Given the description of an element on the screen output the (x, y) to click on. 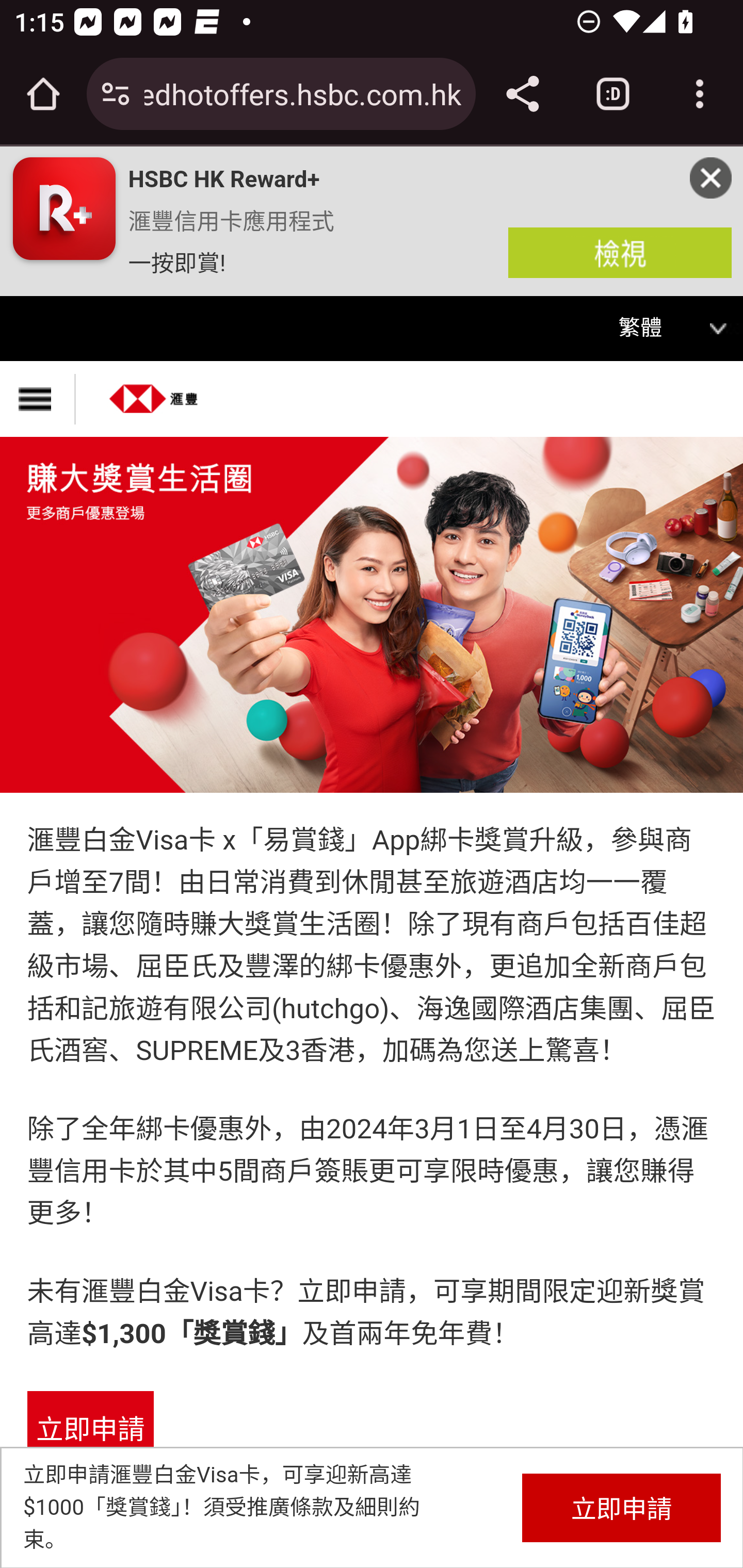
Open the home page (43, 93)
Connection is secure (115, 93)
Share (522, 93)
Switch or close tabs (612, 93)
Customize and control Google Chrome (699, 93)
Close button (711, 177)
Install (620, 252)
繁體 (653, 329)
HSBC (154, 391)
目錄 (37, 398)
立即申請 (90, 1430)
立即申請 (621, 1507)
